Given the description of an element on the screen output the (x, y) to click on. 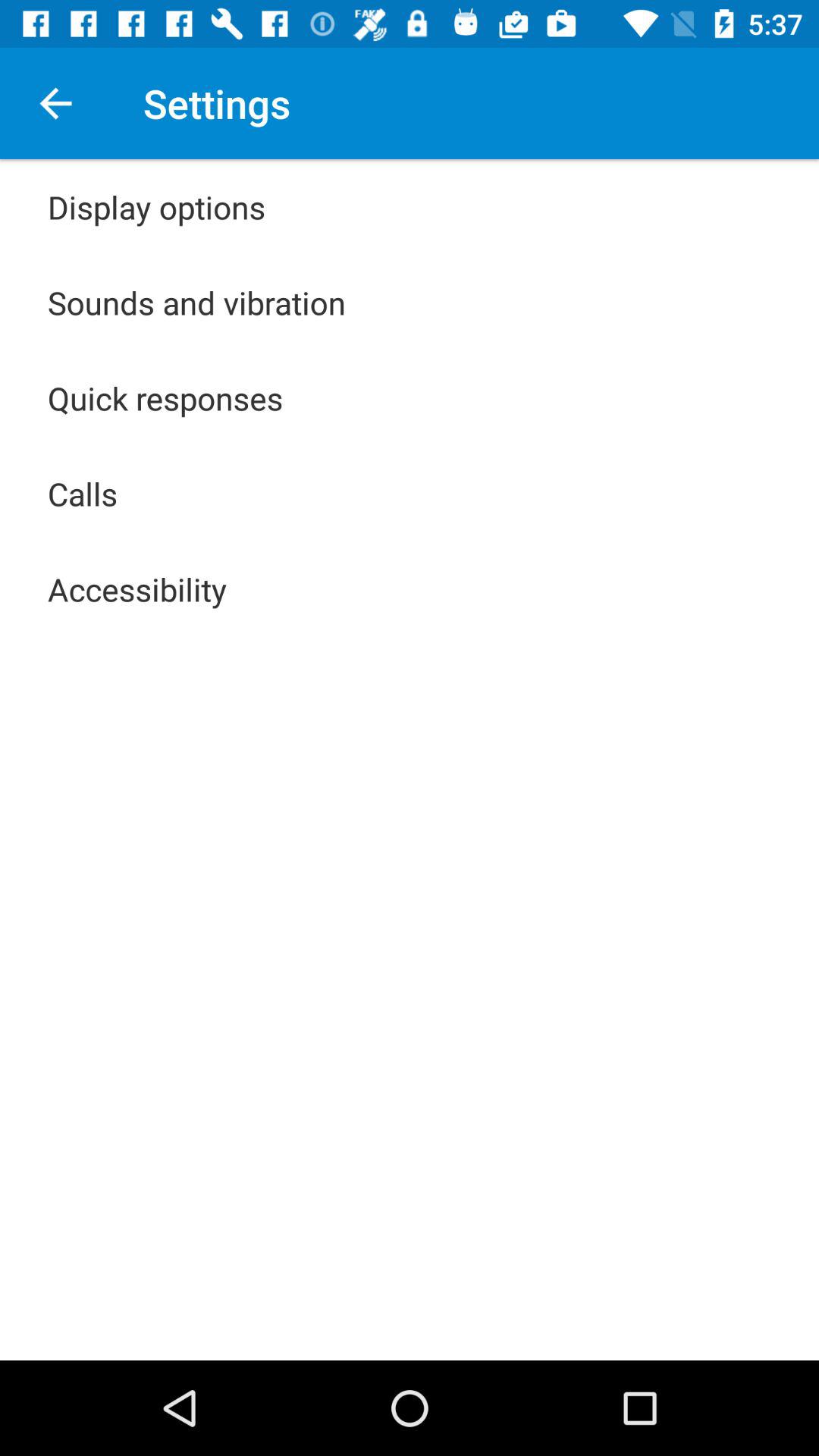
launch the item below display options (196, 302)
